Given the description of an element on the screen output the (x, y) to click on. 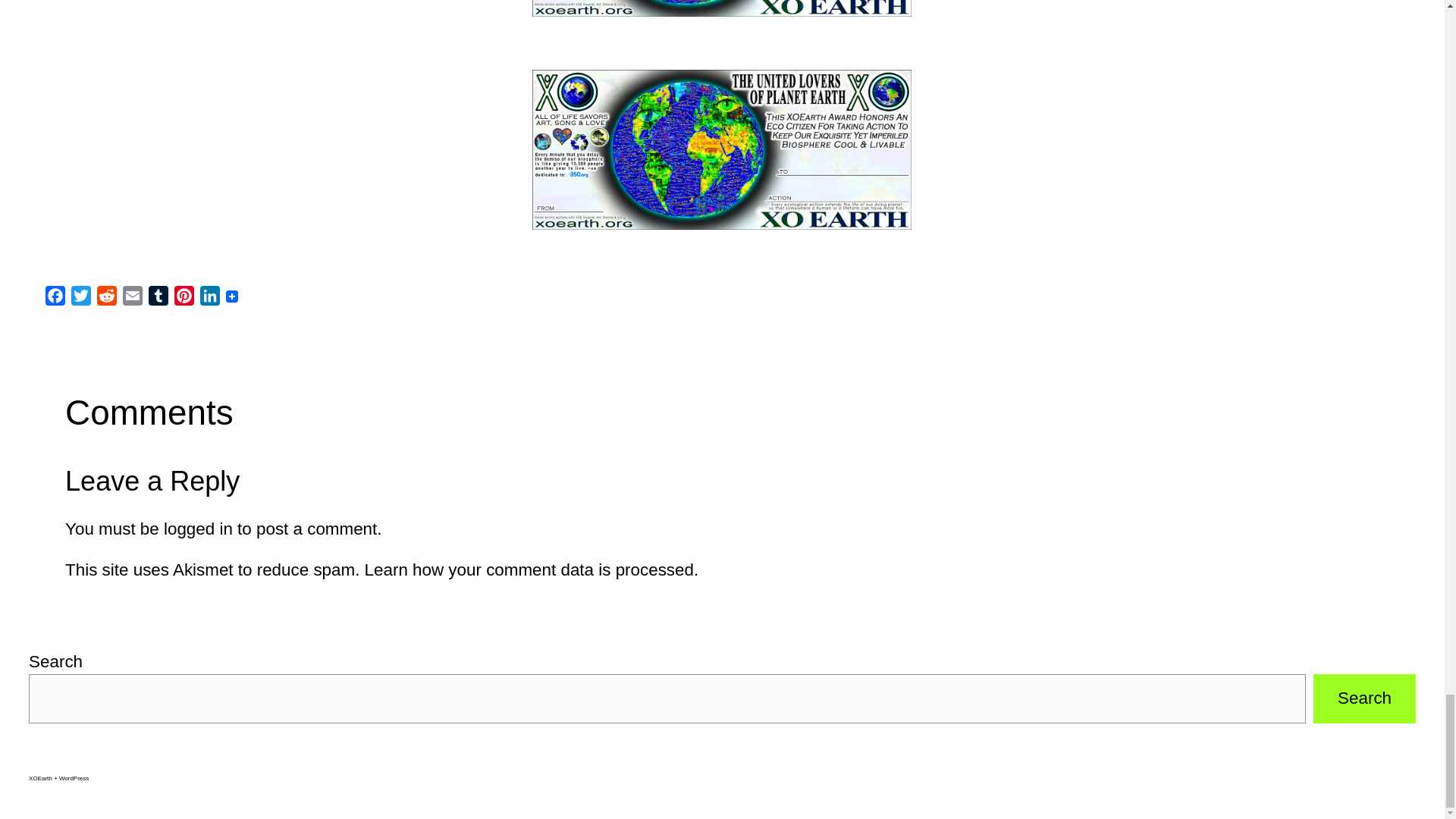
XOEarth Awards - slow (721, 149)
XOEarth Awards - slow (721, 8)
